Given the description of an element on the screen output the (x, y) to click on. 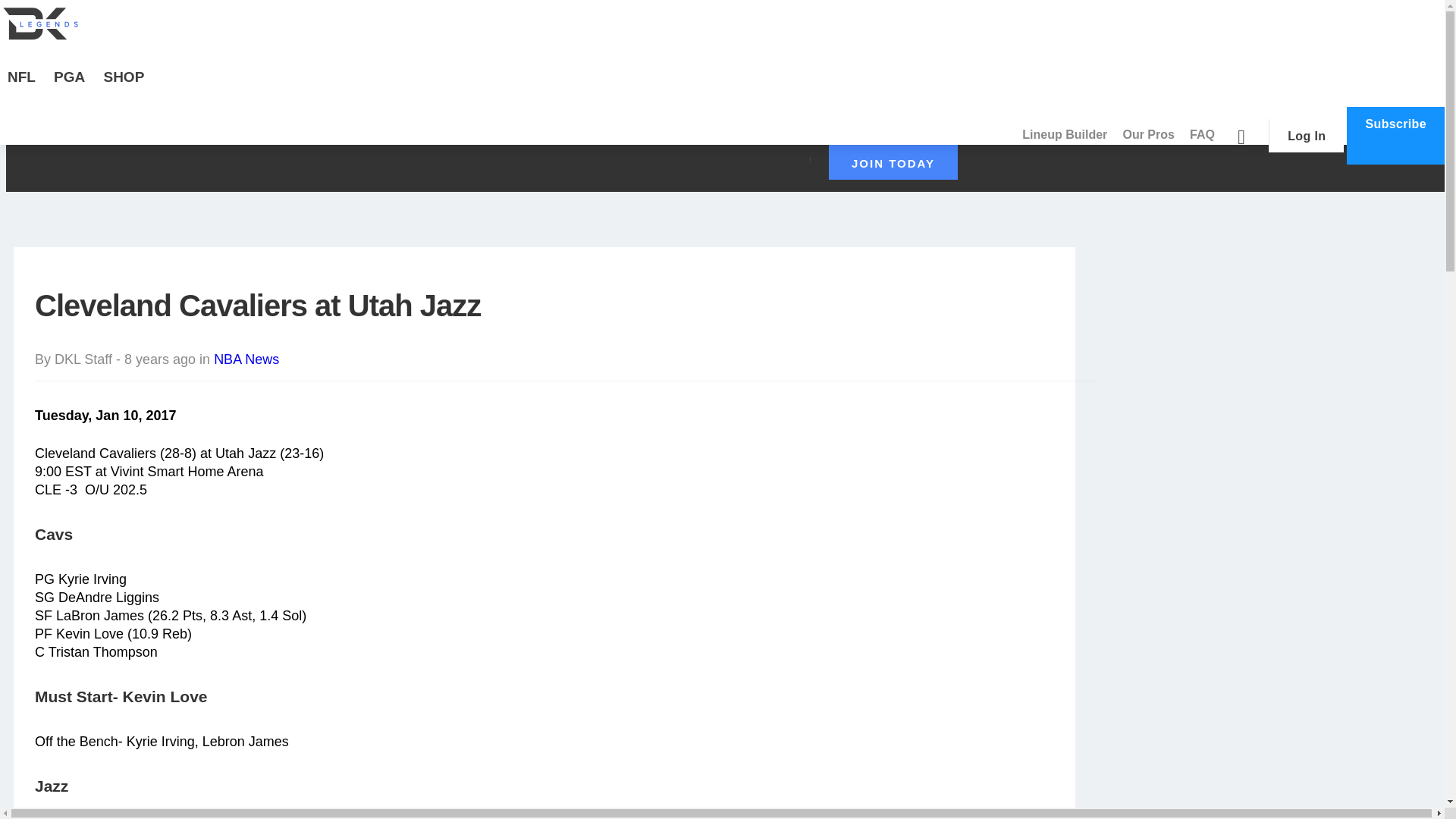
FAQ (1202, 134)
NFL (21, 86)
Lineup Builder (1064, 134)
SHOP (123, 86)
PGA (69, 86)
Our Pros (1147, 134)
Log In (1305, 135)
